Given the description of an element on the screen output the (x, y) to click on. 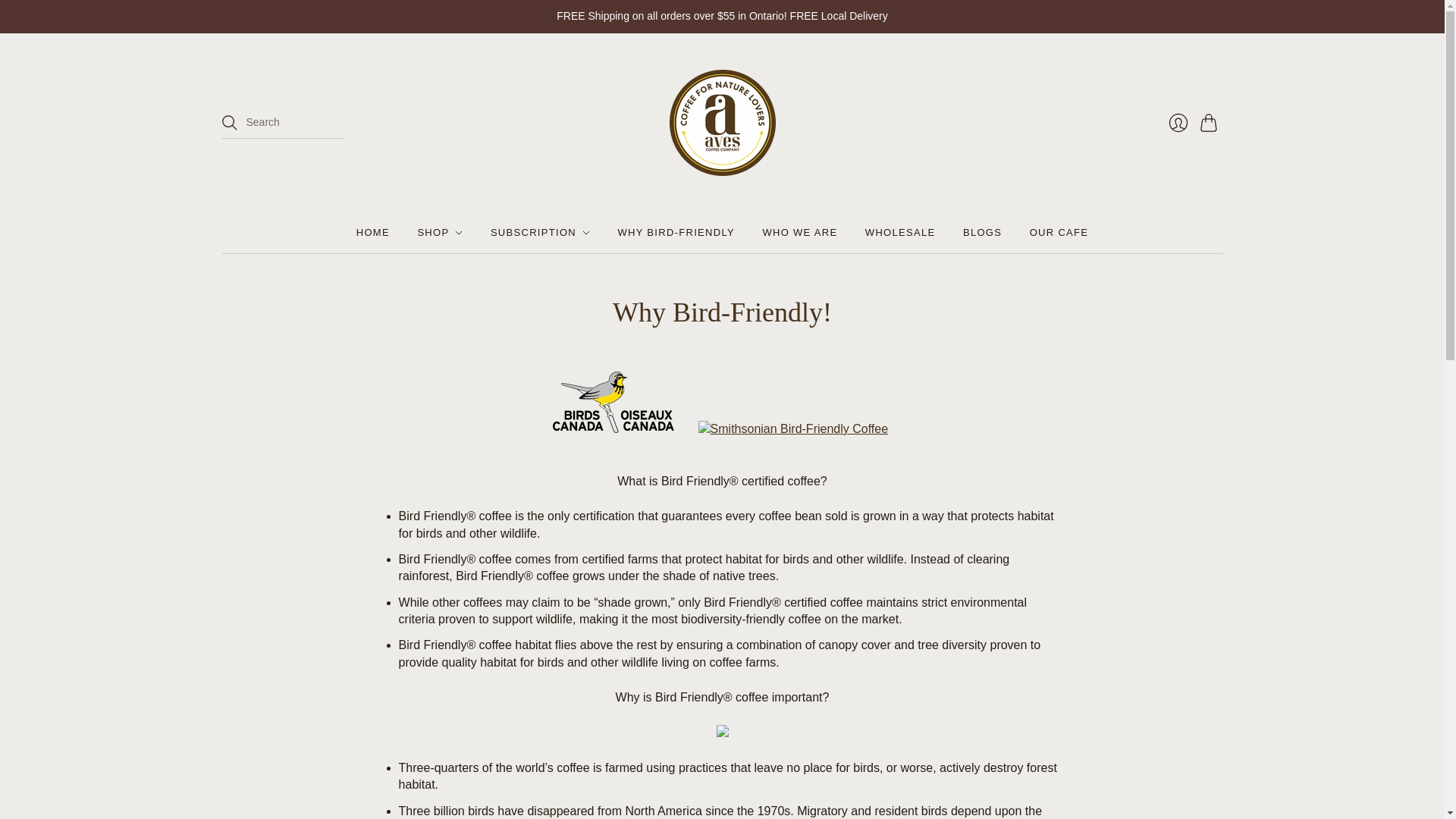
OUR CAFE (1059, 232)
WHOLESALE (900, 232)
WHY BIRD-FRIENDLY (676, 232)
SUBSCRIPTION (539, 232)
HOME (373, 232)
SHOP (439, 232)
Cart (1210, 122)
WHO WE ARE (799, 232)
BLOGS (981, 232)
Login (1177, 122)
